Given the description of an element on the screen output the (x, y) to click on. 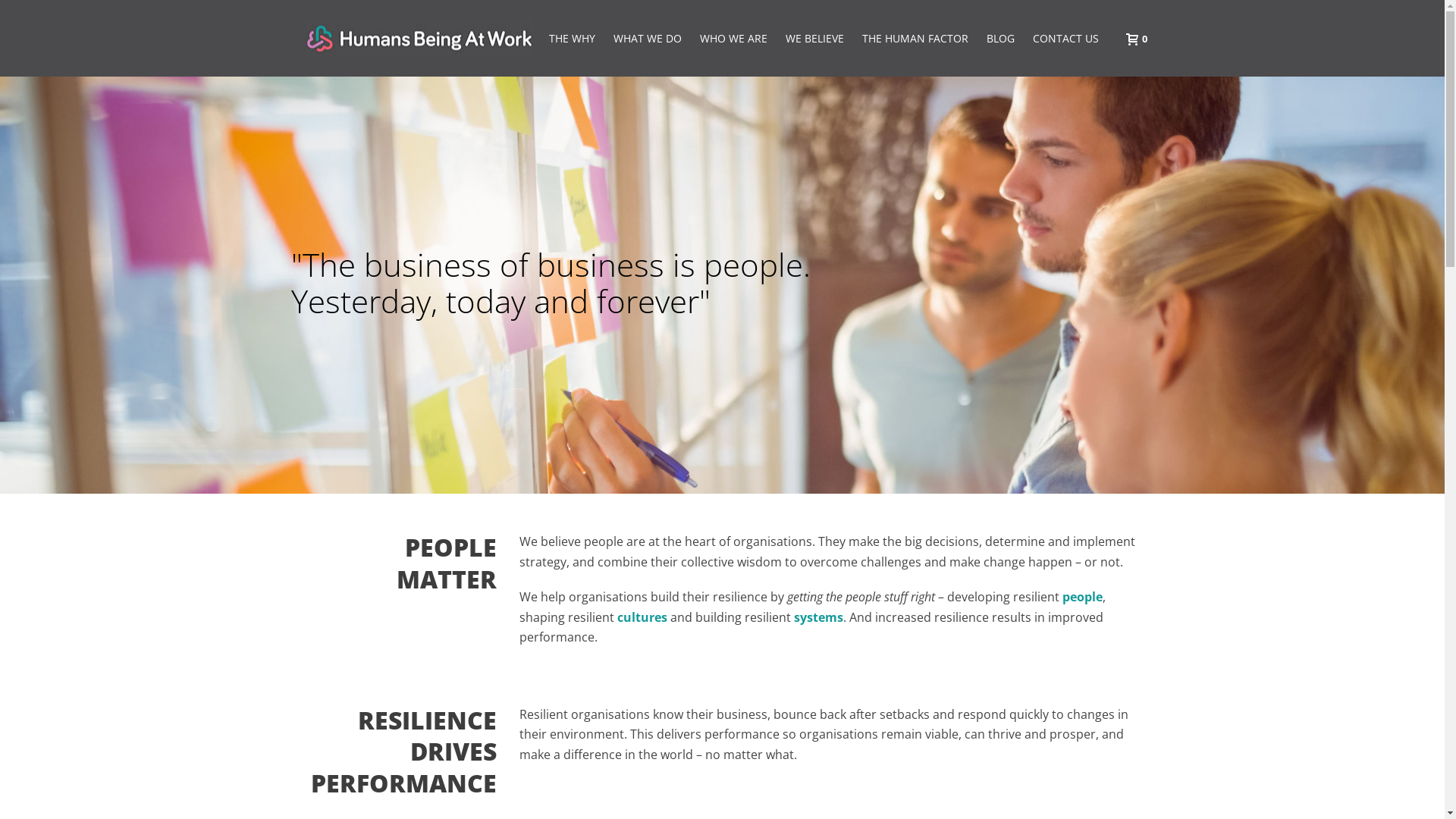
THE WHY Element type: text (571, 39)
WHAT WE DO Element type: text (646, 39)
CONTACT US Element type: text (1065, 39)
WHO WE ARE Element type: text (732, 39)
THE HUMAN FACTOR Element type: text (914, 39)
WE BELIEVE Element type: text (814, 39)
0 Element type: text (1132, 37)
BLOG Element type: text (999, 39)
